Given the description of an element on the screen output the (x, y) to click on. 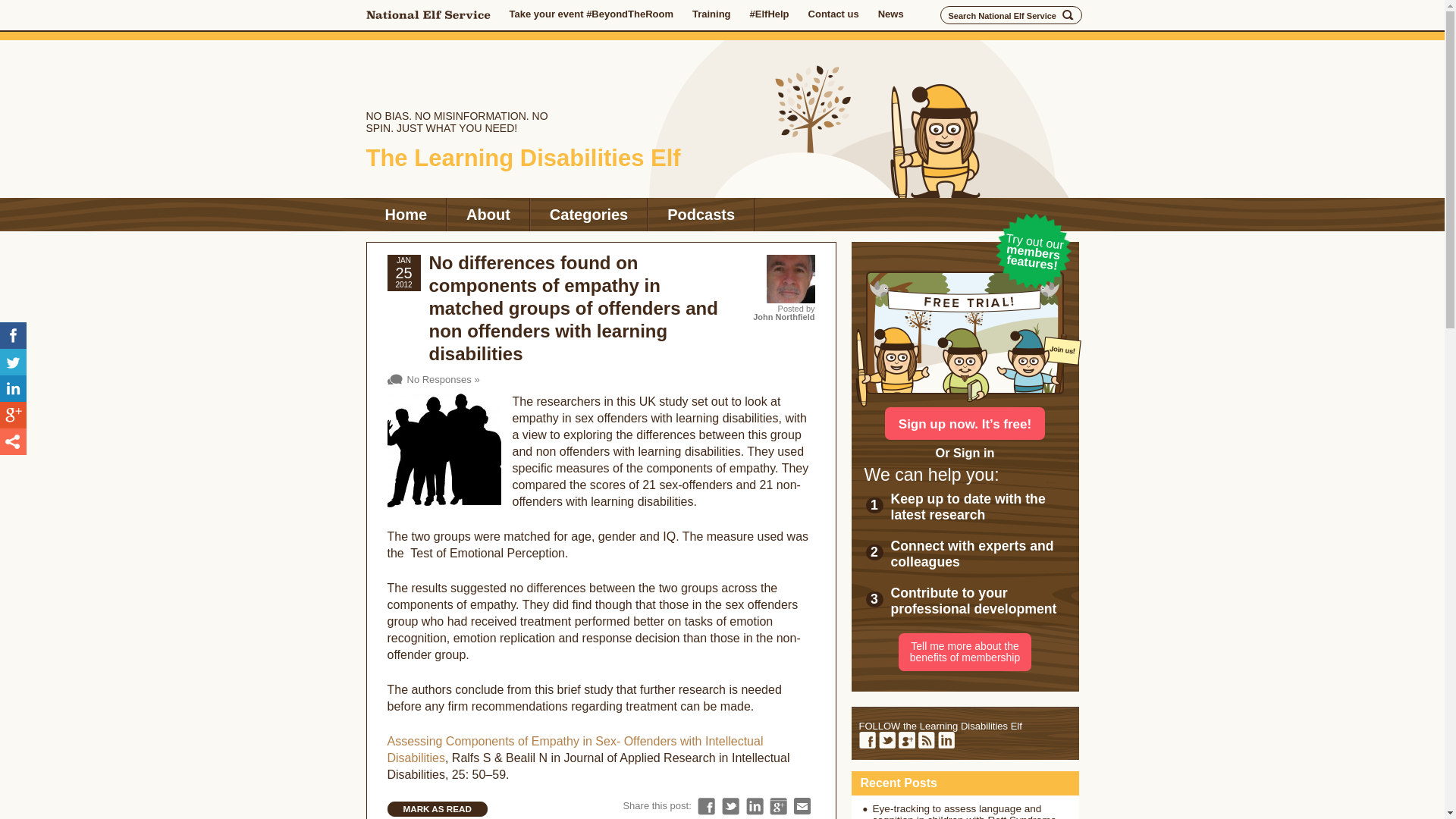
Share on LinkedIn (753, 805)
Share on Facebook (13, 335)
Tweet this on Twitter (730, 805)
Contact us (833, 13)
Share via email (801, 805)
Training (711, 13)
Follow us on Twitter (886, 740)
About (487, 214)
Share on LinkedIn (13, 388)
Categories (588, 214)
Find us on Facebook (867, 740)
Search (1068, 14)
Home (405, 214)
Search (1068, 14)
